Given the description of an element on the screen output the (x, y) to click on. 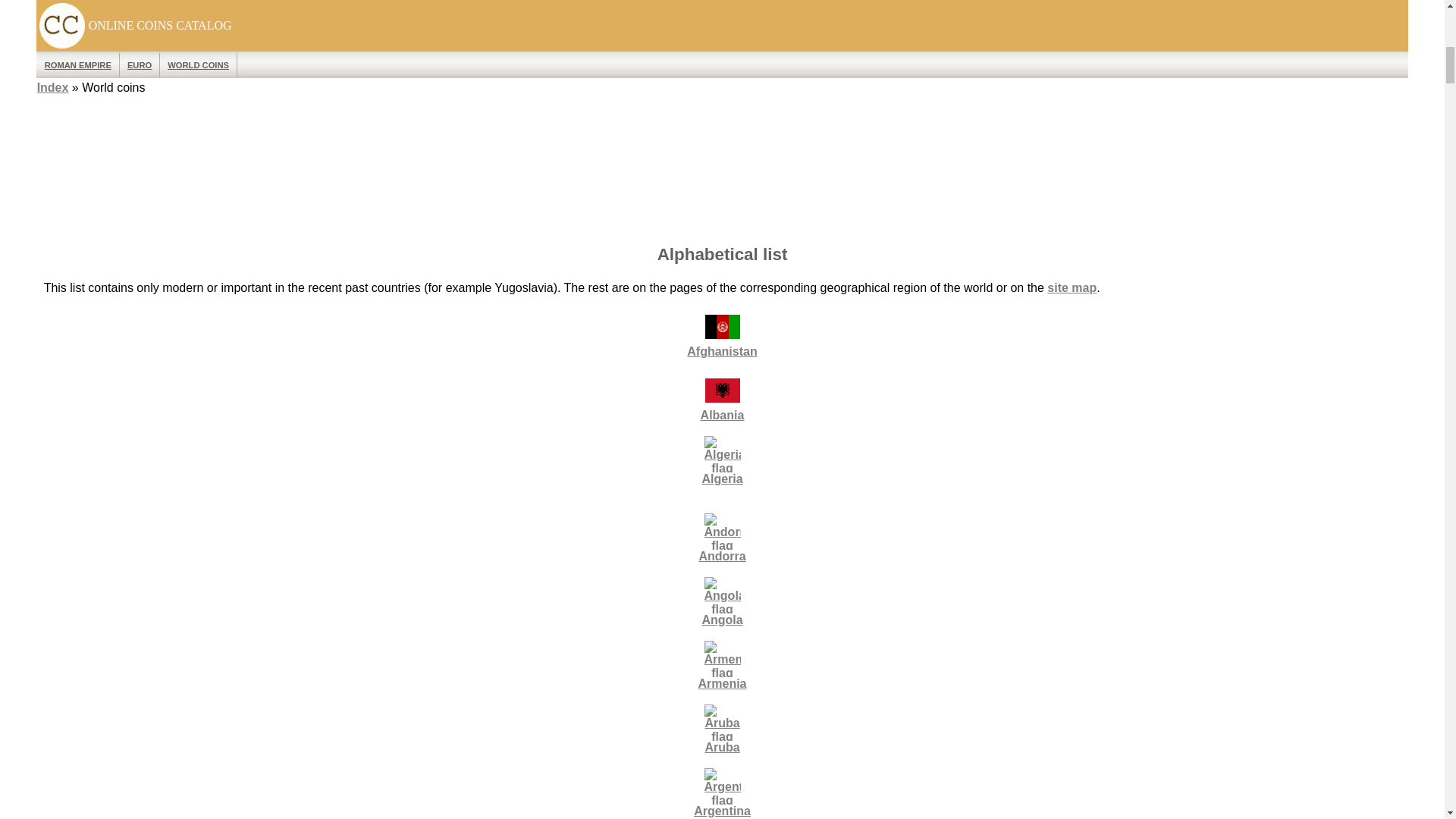
Aruba flag (721, 722)
Afghanistan (721, 326)
Armenia flag (721, 658)
Algeria flag (721, 453)
Albania flag (721, 390)
site map (1071, 287)
Argentina flag (721, 786)
Andorra flag (721, 531)
Angola flag (721, 595)
